Given the description of an element on the screen output the (x, y) to click on. 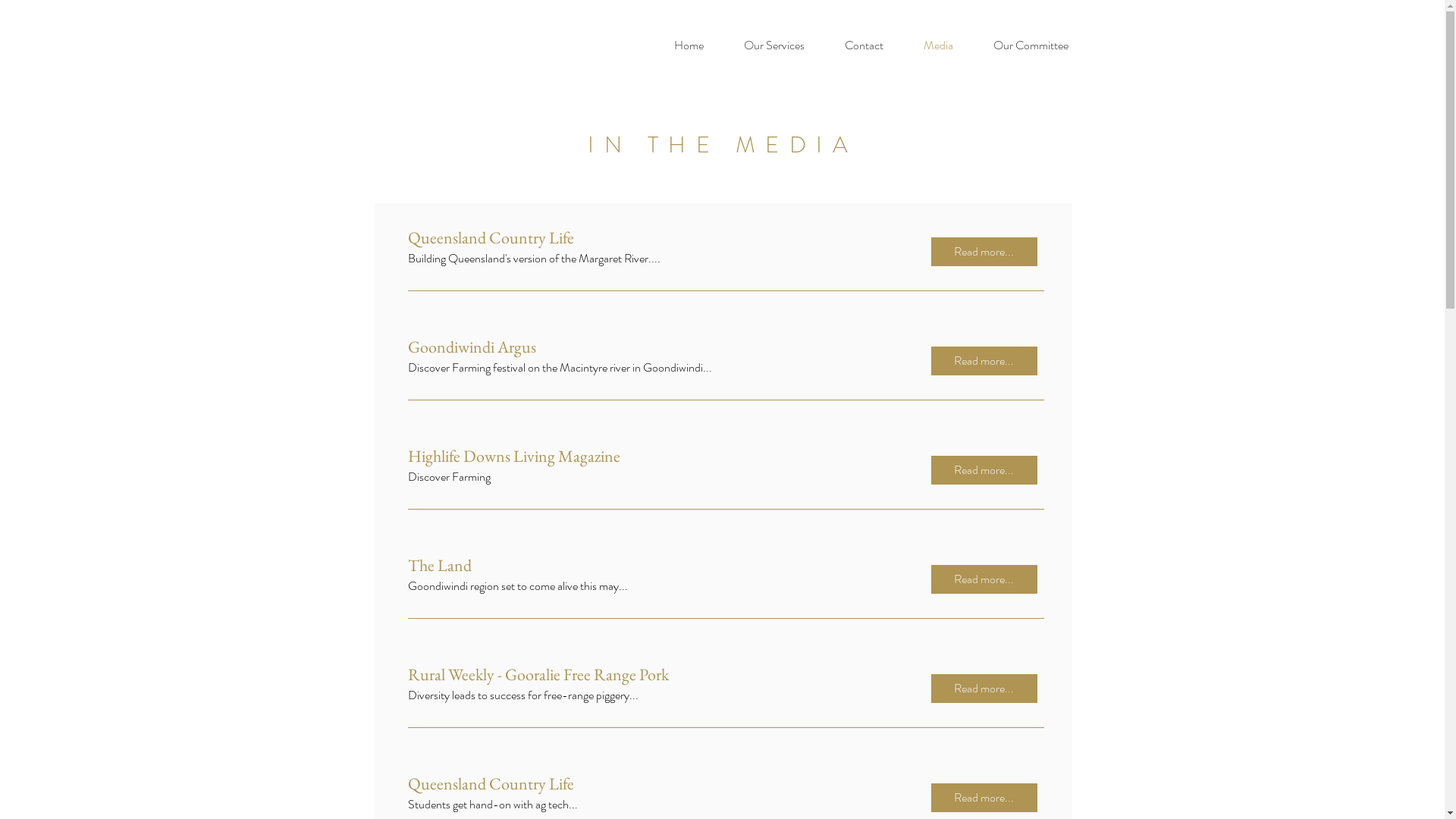
Read more... Element type: text (983, 251)
Contact Element type: text (864, 45)
Read more... Element type: text (983, 470)
Read more... Element type: text (983, 579)
Our Services Element type: text (773, 45)
Read more... Element type: text (983, 797)
Media Element type: text (938, 45)
Read more... Element type: text (983, 688)
Our Committee Element type: text (1030, 45)
Home Element type: text (688, 45)
Read more... Element type: text (983, 360)
